Given the description of an element on the screen output the (x, y) to click on. 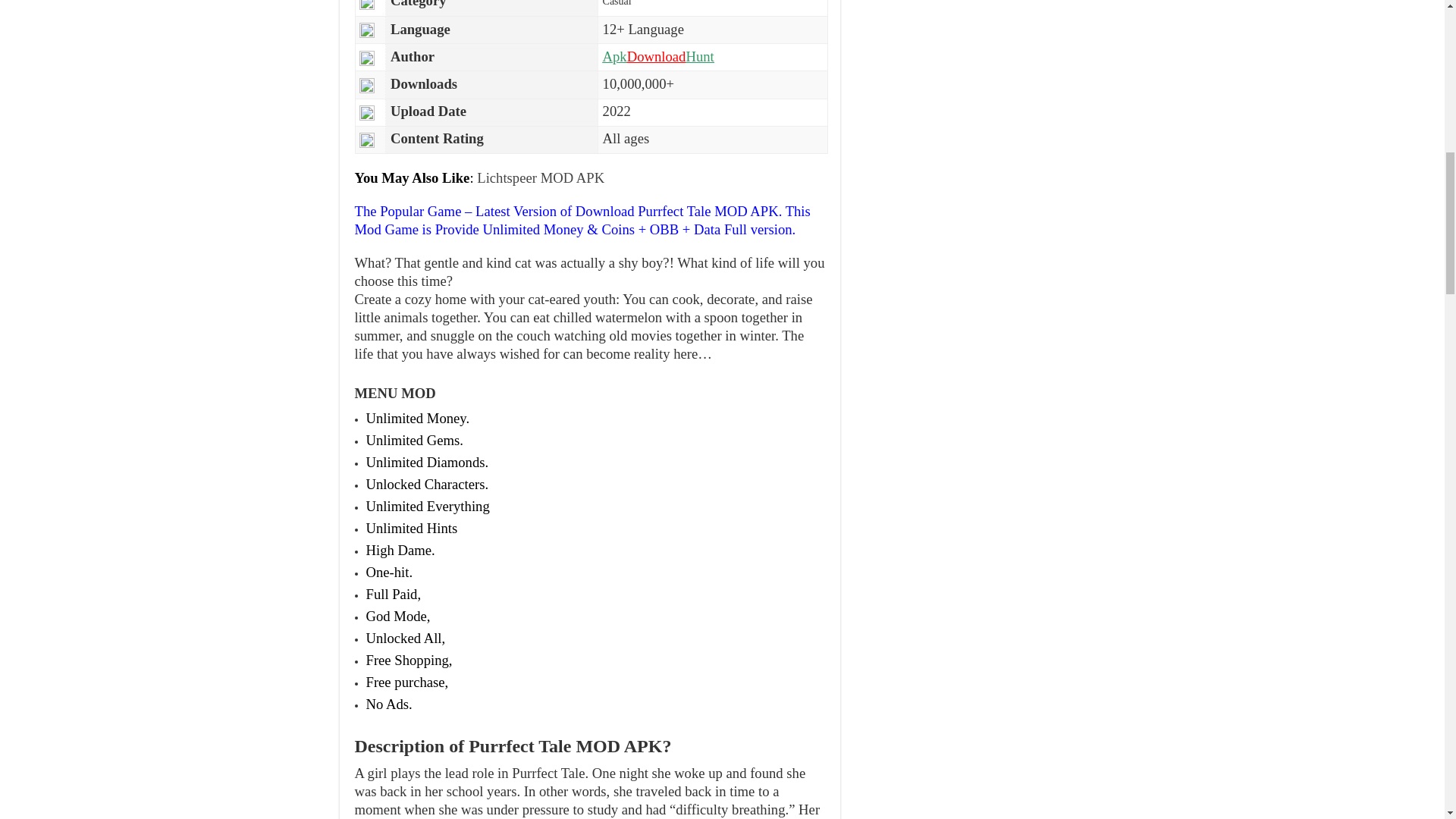
Scroll To Top (1421, 60)
Lichtspeer MOD APK (540, 177)
ApkDownloadHunt (658, 56)
